Given the description of an element on the screen output the (x, y) to click on. 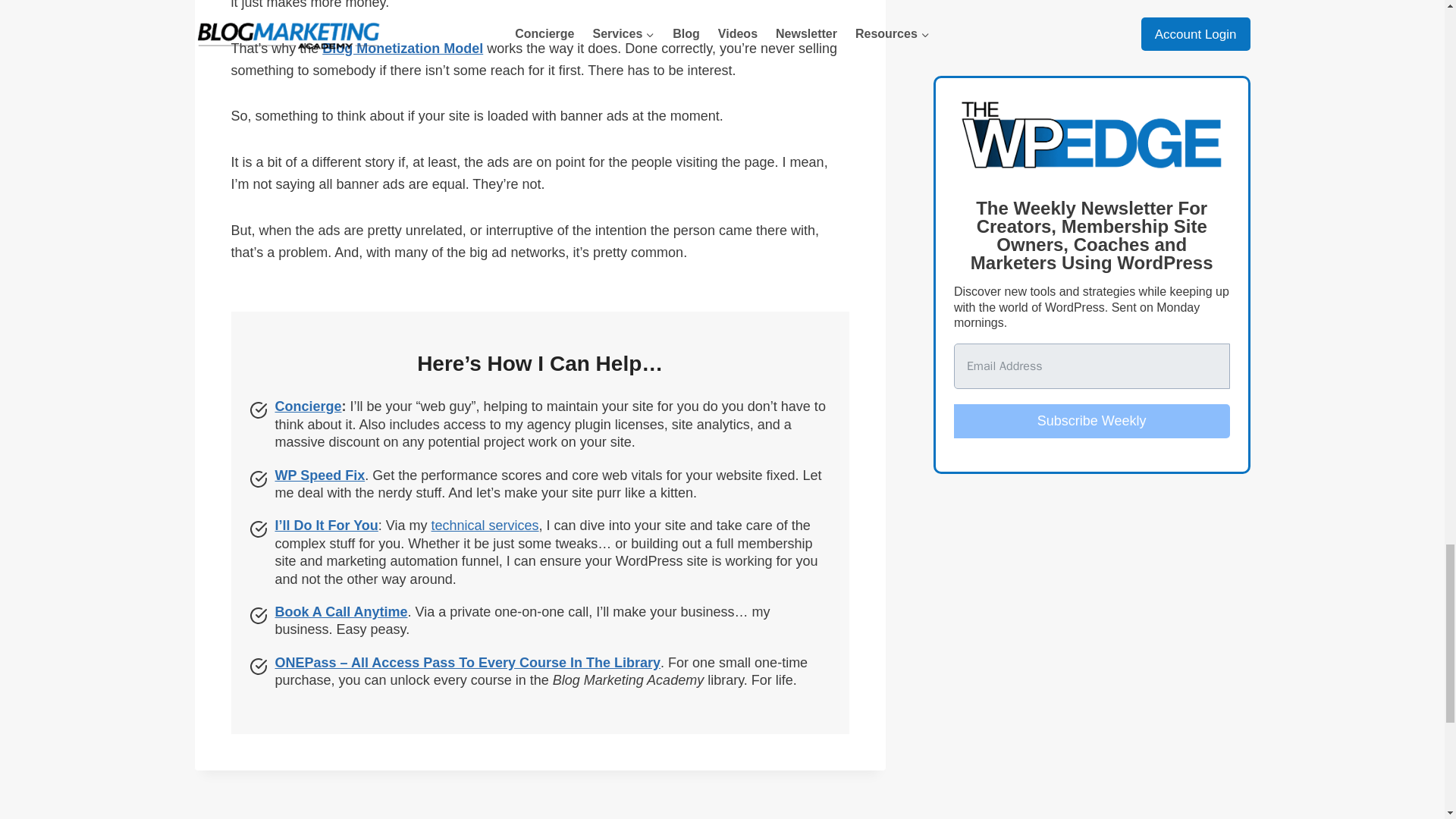
Book A Call Anytime (341, 611)
technical services (484, 525)
Blog Monetization Model (402, 48)
WP Speed Fix (320, 475)
Concierge (307, 406)
